Given the description of an element on the screen output the (x, y) to click on. 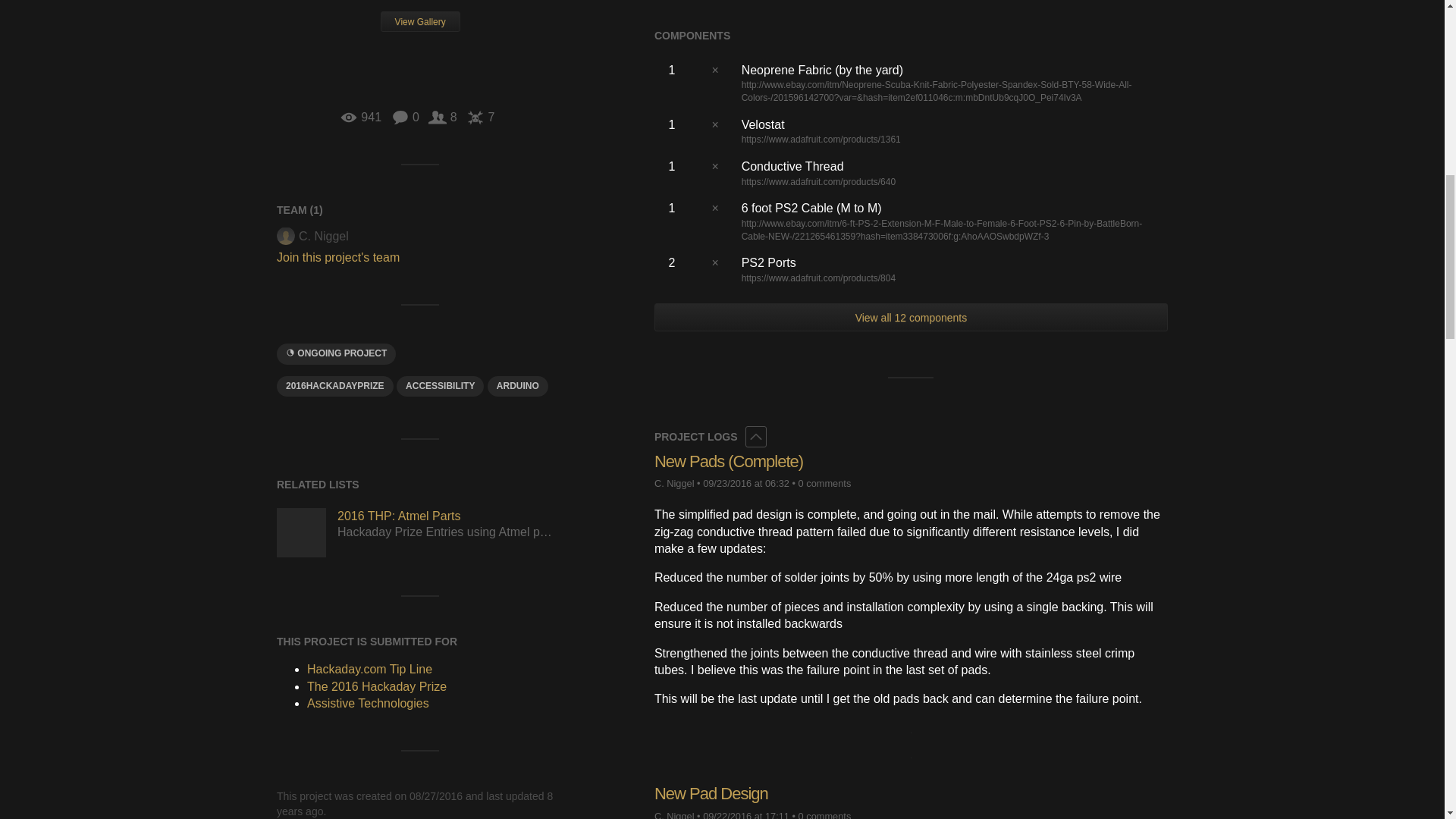
Comments (405, 116)
Followers (442, 116)
2016 THP: Atmel Parts (301, 532)
8 years ago (746, 482)
Likes (480, 116)
8 years ago (746, 814)
View Count (360, 116)
